Given the description of an element on the screen output the (x, y) to click on. 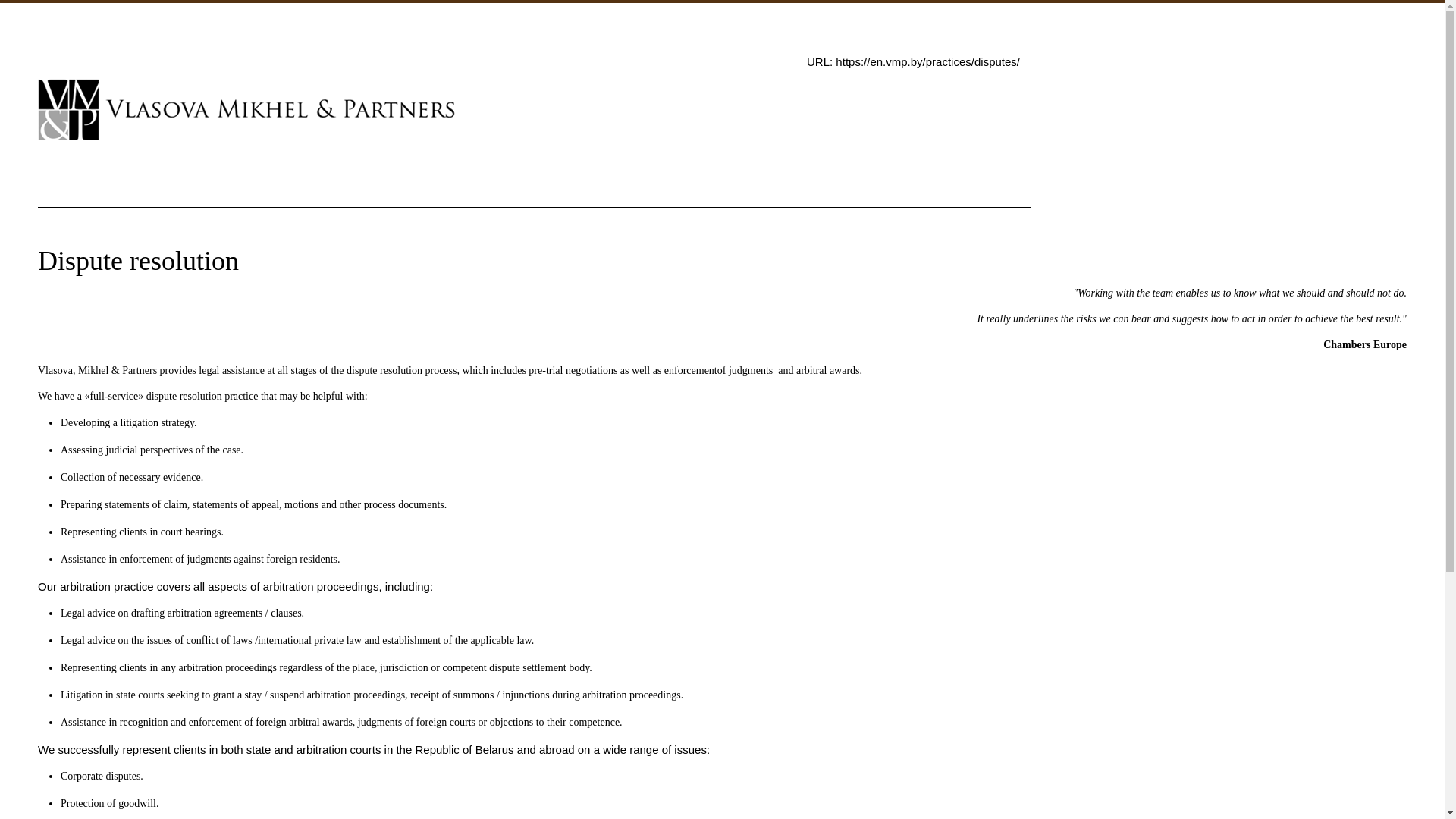
Vlasova Mikhel and Partners Element type: hover (246, 109)
URL: https://en.vmp.by/practices/disputes/ Element type: text (912, 61)
